Given the description of an element on the screen output the (x, y) to click on. 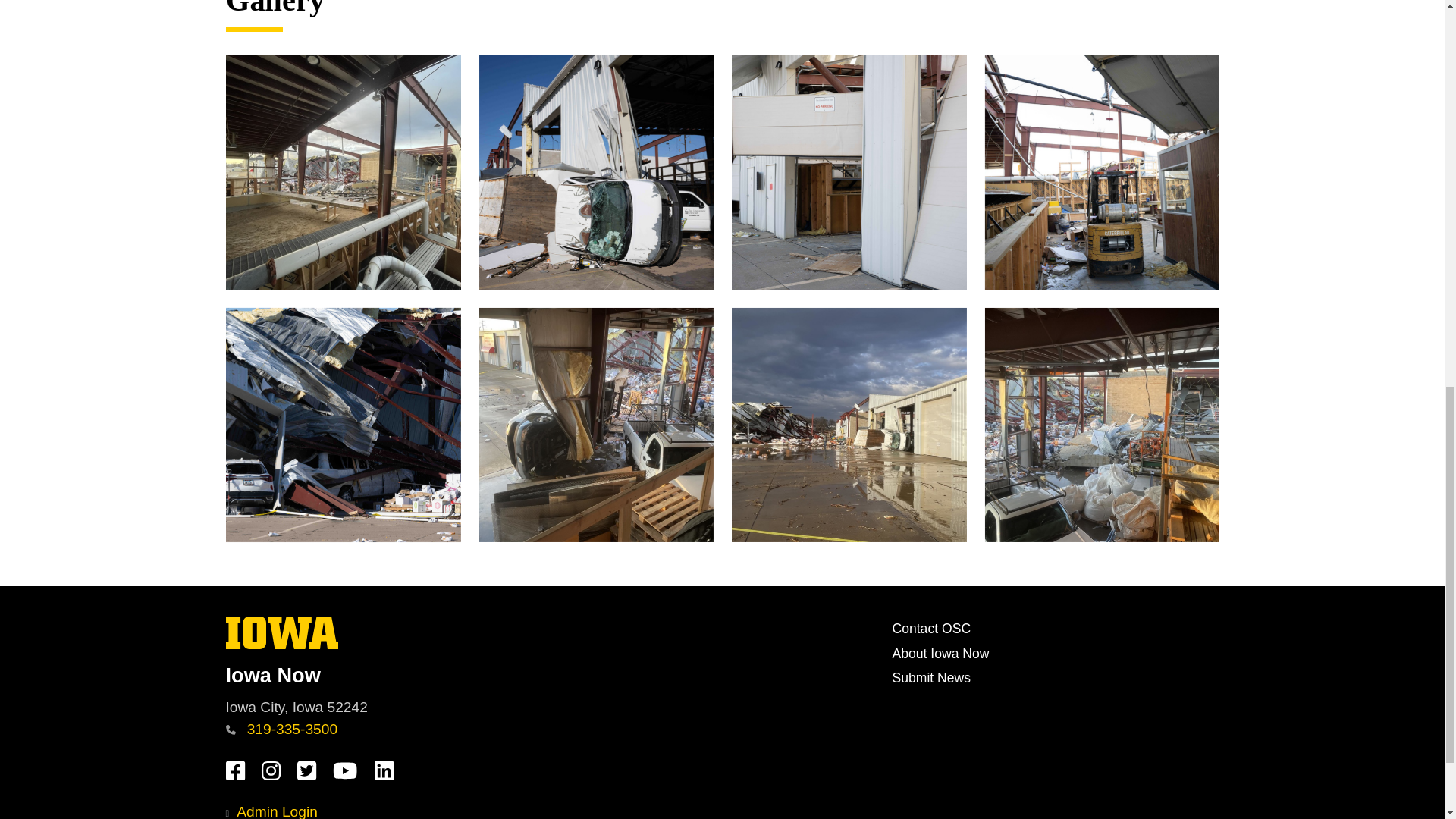
Iowa Now (552, 675)
Submit News (931, 677)
Admin Login (271, 811)
319-335-3500 (281, 729)
About Iowa Now (282, 644)
Contact OSC (939, 653)
University of Iowa (931, 628)
